Given the description of an element on the screen output the (x, y) to click on. 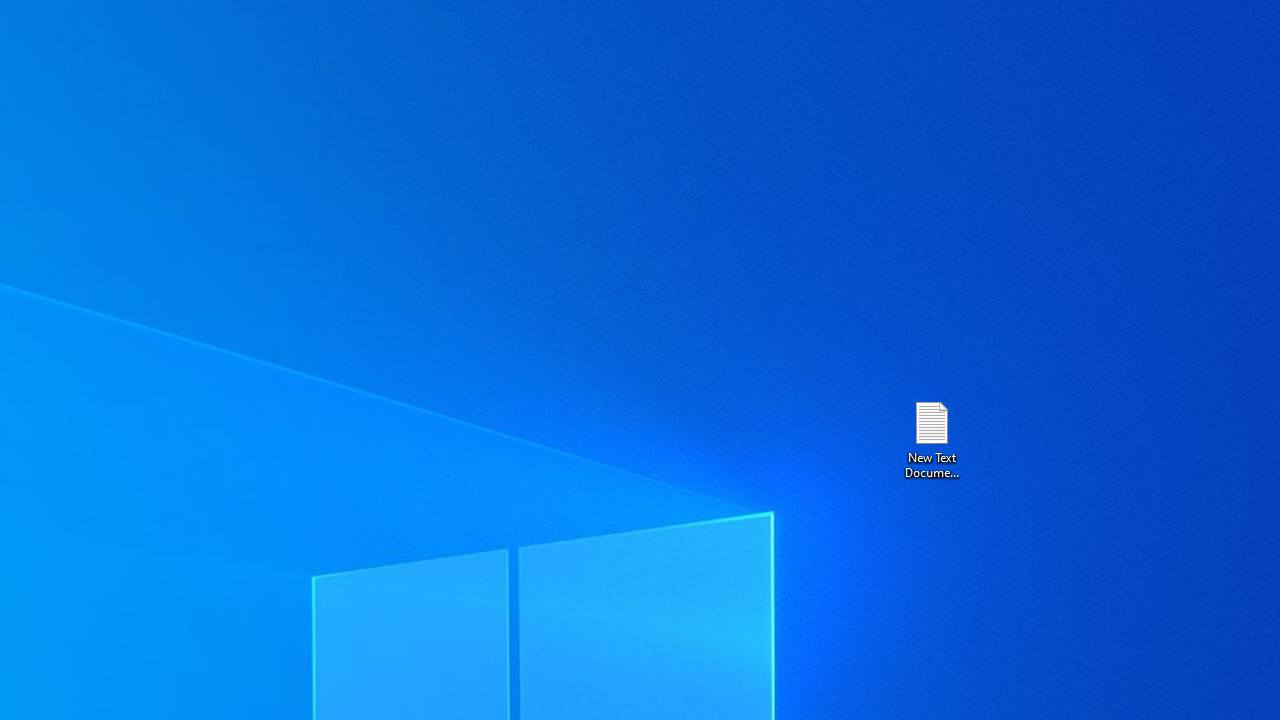
New Text Document (2) (931, 438)
